Given the description of an element on the screen output the (x, y) to click on. 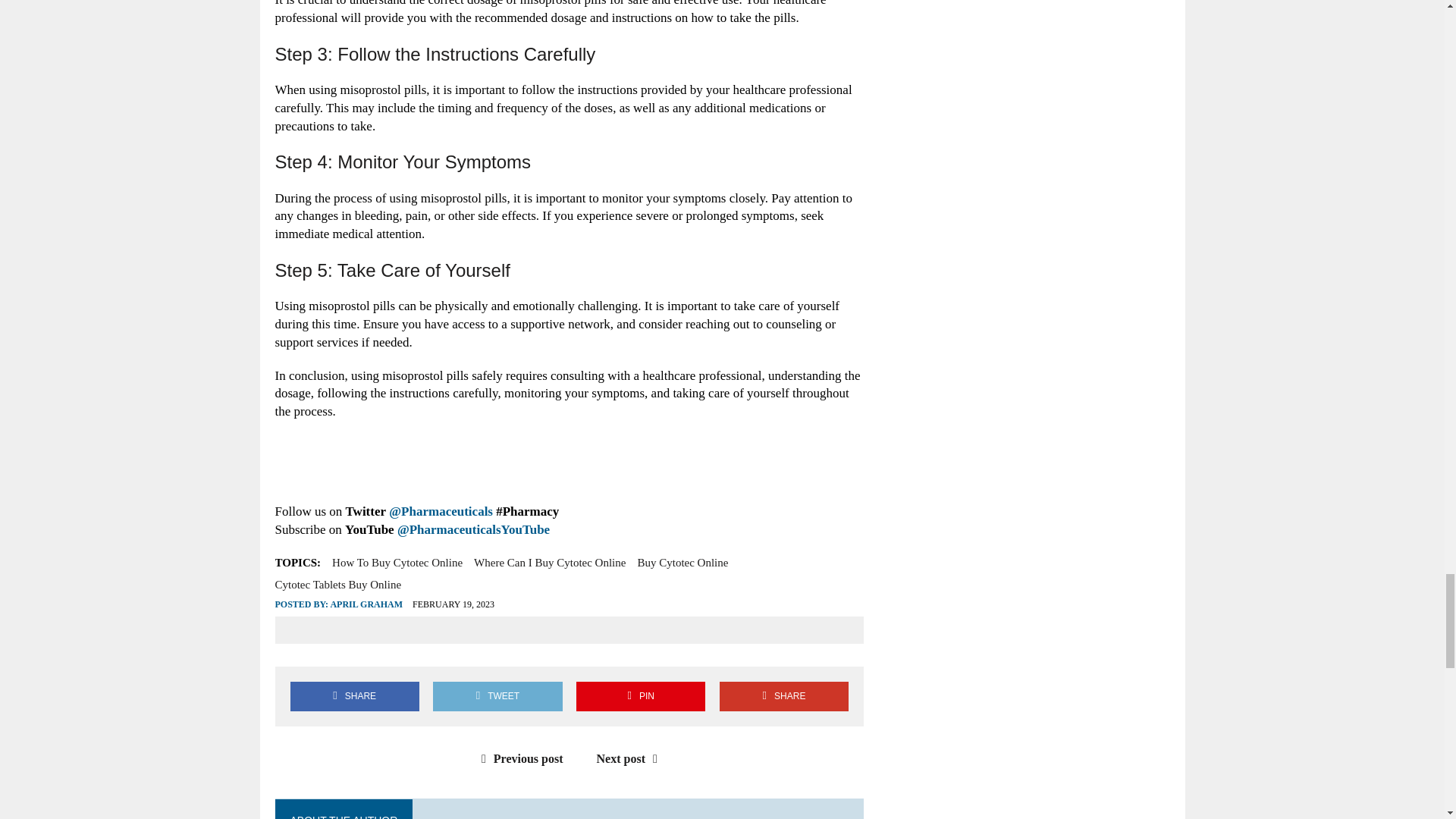
PIN (640, 695)
SHARE (354, 695)
Next post (630, 758)
How To Buy Cytotec Online (397, 562)
APRIL GRAHAM (366, 603)
Cytotec Tablets Buy Online (338, 584)
Share on Facebook (354, 695)
Previous post (518, 758)
Tweet This Post (497, 695)
Where Can I Buy Cytotec Online (550, 562)
